Given the description of an element on the screen output the (x, y) to click on. 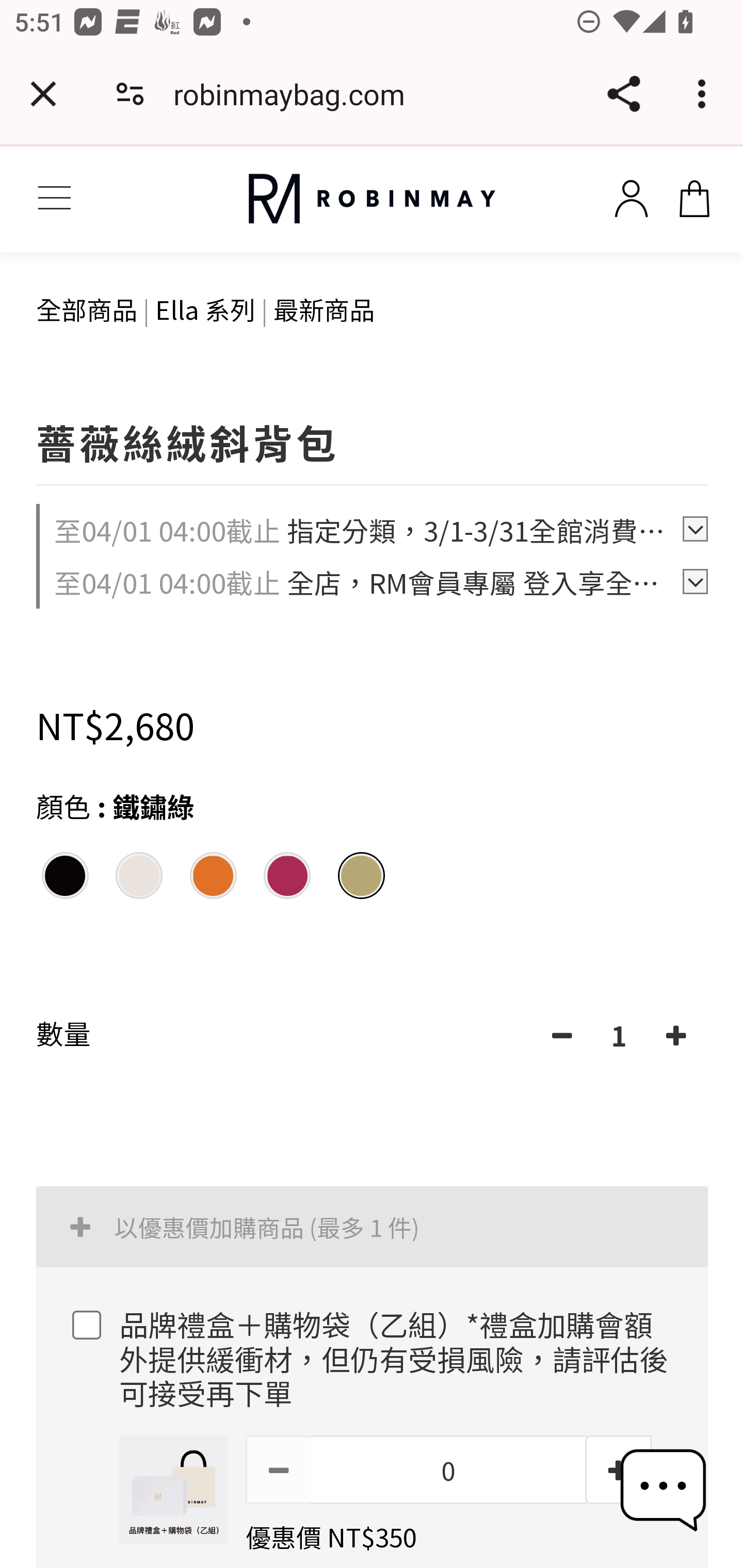
Close tab (43, 93)
Share (623, 93)
Customize and control Google Chrome (705, 93)
Connection is secure (129, 93)
robinmaybag.com (296, 93)
original (371, 199)
x100 (631, 195)
x100 (694, 195)
全部商品 (86, 308)
Ella 系列 (205, 308)
最新商品 (323, 308)
 (561, 1035)
1 (618, 1035)
 (675, 1035)
 (278, 1469)
0 (448, 1469)
